Given the description of an element on the screen output the (x, y) to click on. 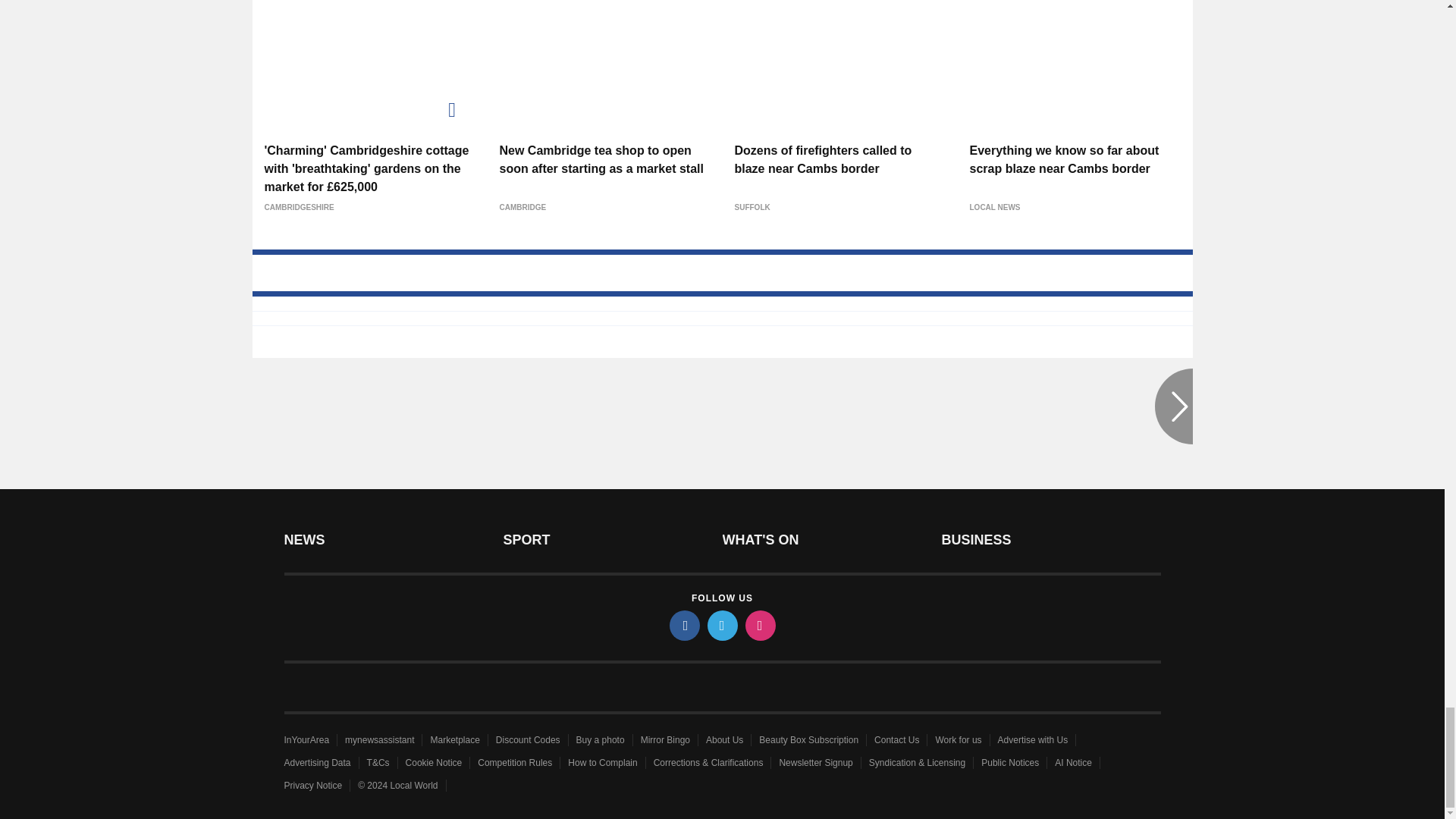
facebook (683, 625)
instagram (759, 625)
twitter (721, 625)
